Given the description of an element on the screen output the (x, y) to click on. 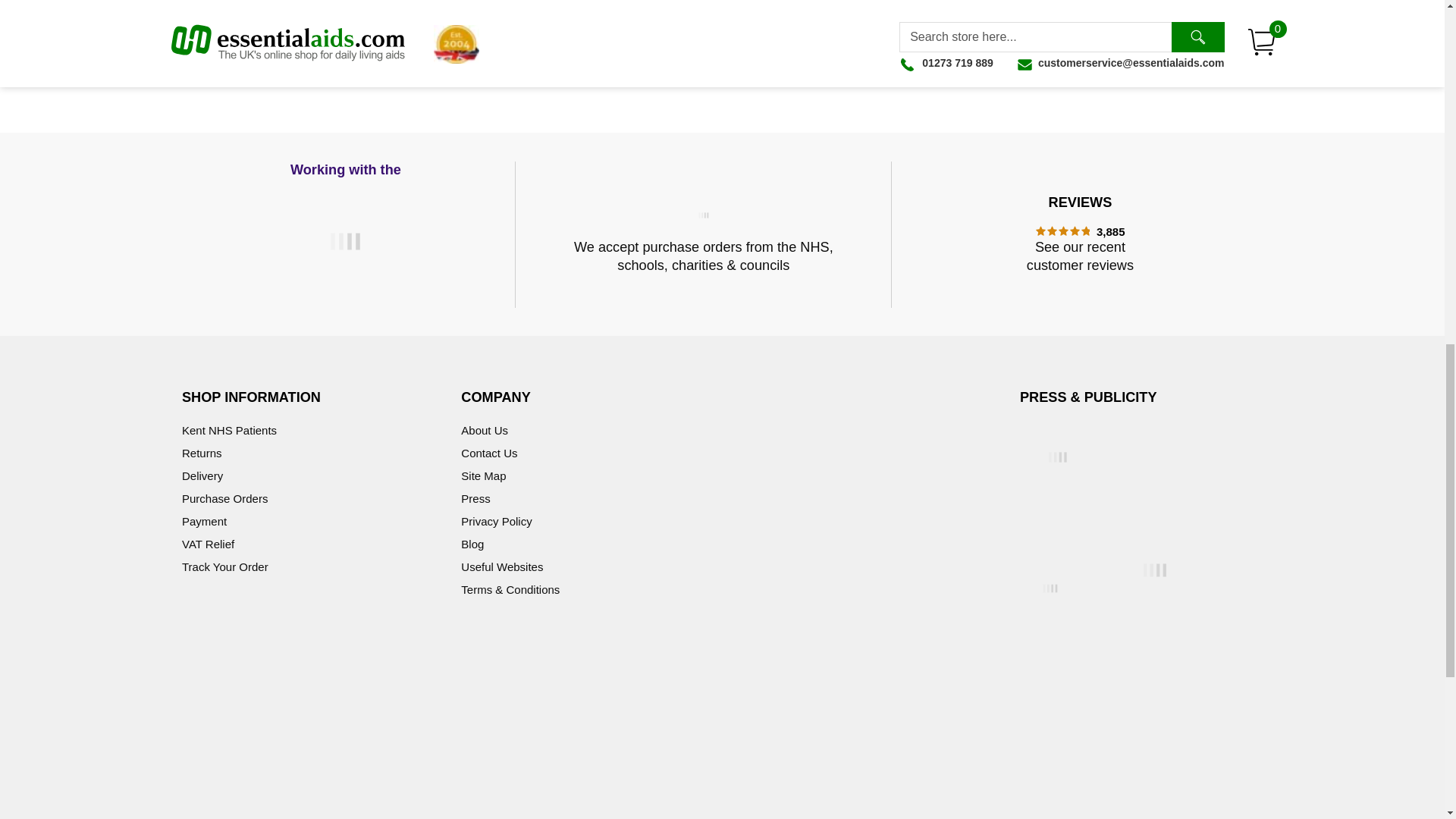
Purchase Orders (224, 498)
Payment (204, 521)
Delivery (202, 475)
Stroke Association (345, 234)
Returns (202, 452)
Kent NHS Patients (229, 430)
